Given the description of an element on the screen output the (x, y) to click on. 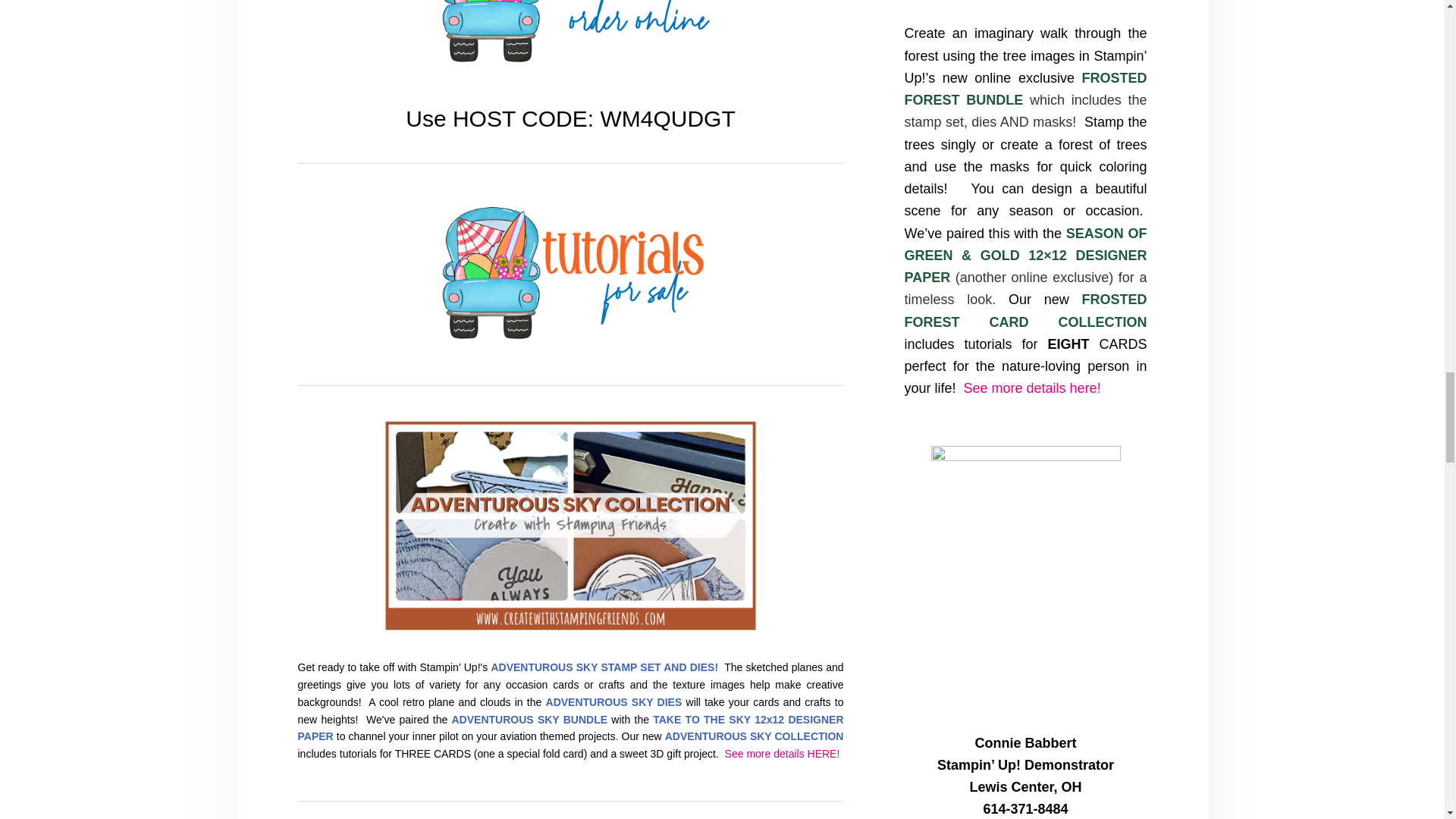
See more details HERE! (781, 753)
